Given the description of an element on the screen output the (x, y) to click on. 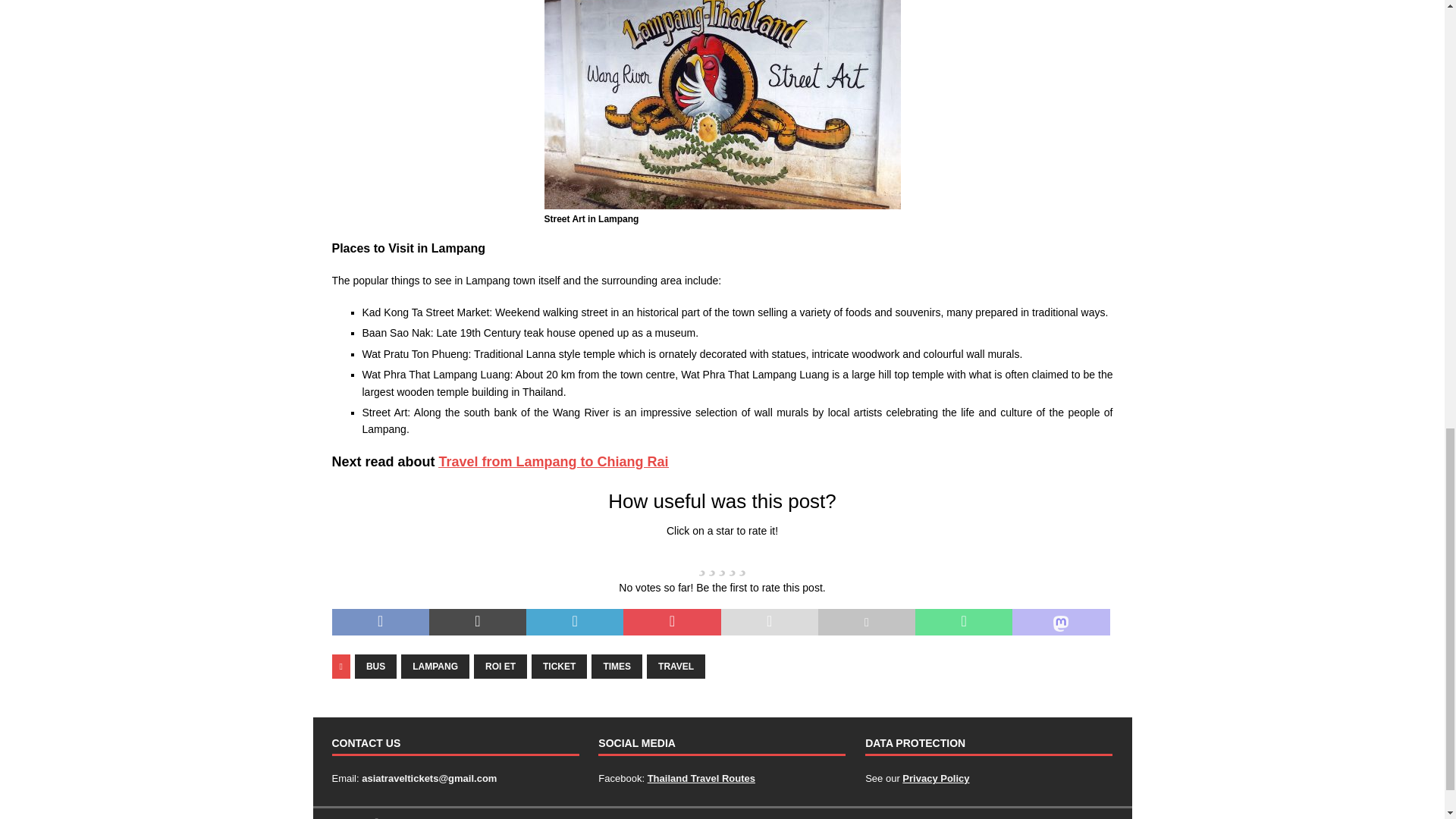
Share on LinkedIn (574, 622)
Tweet This Post (477, 622)
Pin This Post (671, 622)
Share on Facebook (380, 622)
Share On Mastodon (1060, 622)
Send this article to a friend (769, 622)
Travel from Lampang to Chiang Rai (553, 461)
Share on Whatsapp (963, 622)
Print this article (866, 622)
